Given the description of an element on the screen output the (x, y) to click on. 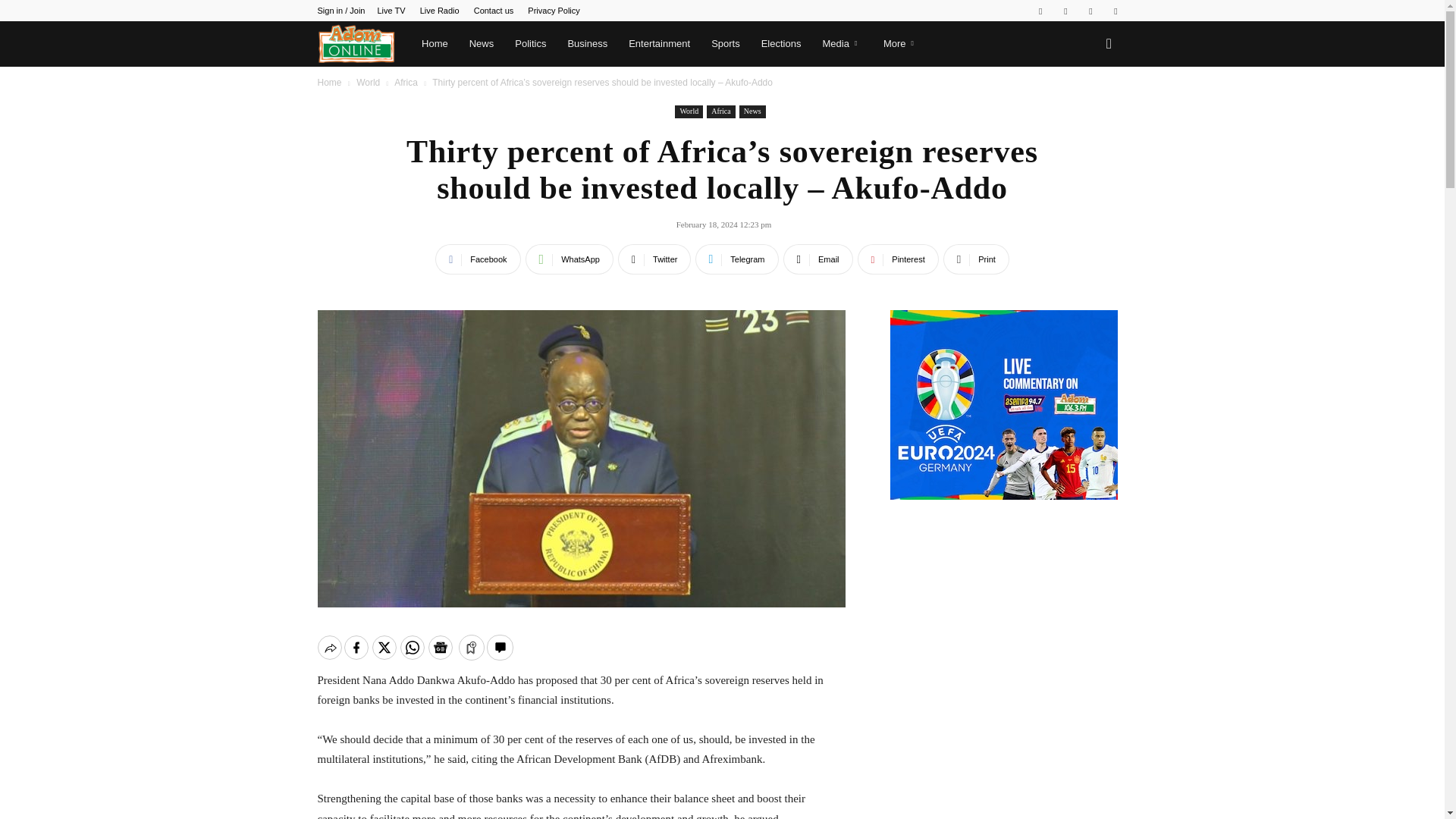
Linkedin (1065, 10)
Adomonline Logo (356, 44)
Live TV (390, 10)
Privacy Policy (553, 10)
Facebook (477, 259)
WhatsApp (568, 259)
Youtube (1114, 10)
Facebook (1040, 10)
Twitter (1090, 10)
View all posts in Africa (405, 81)
Telegram (736, 259)
Live Radio (440, 10)
Contact us (493, 10)
View all posts in World (368, 81)
Twitter (654, 259)
